Given the description of an element on the screen output the (x, y) to click on. 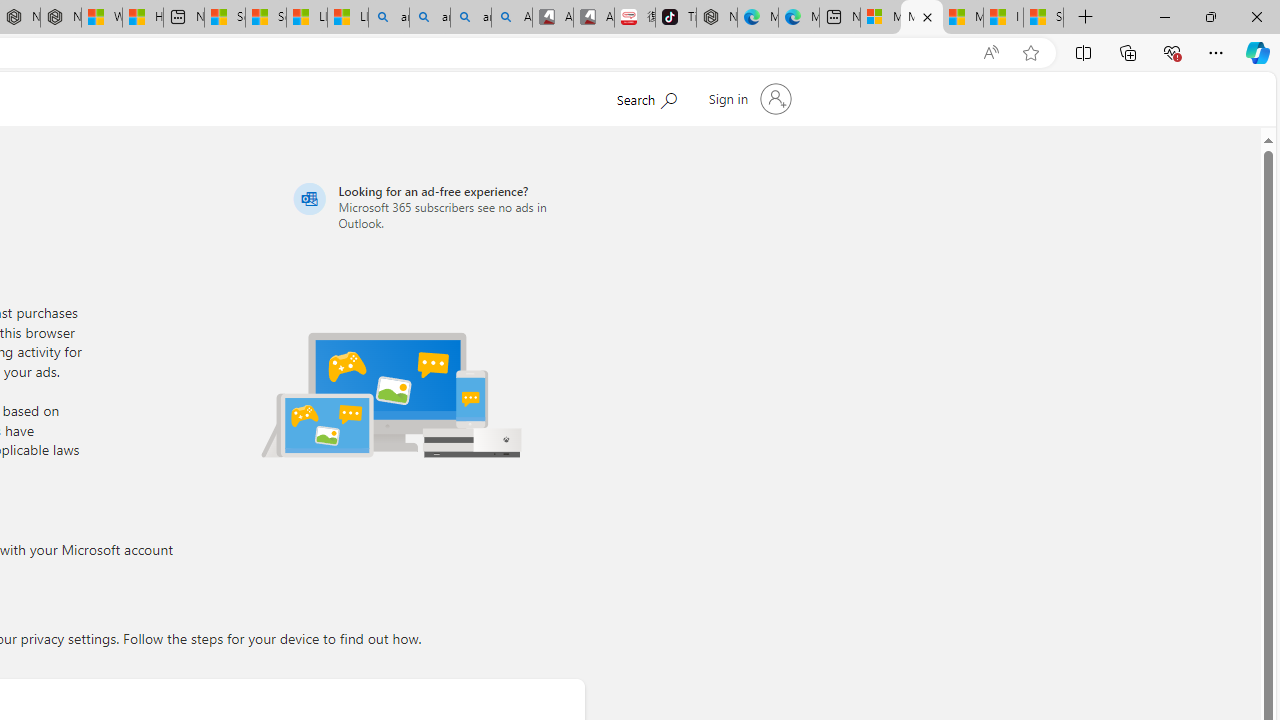
Sign in to your account (748, 98)
